Given the description of an element on the screen output the (x, y) to click on. 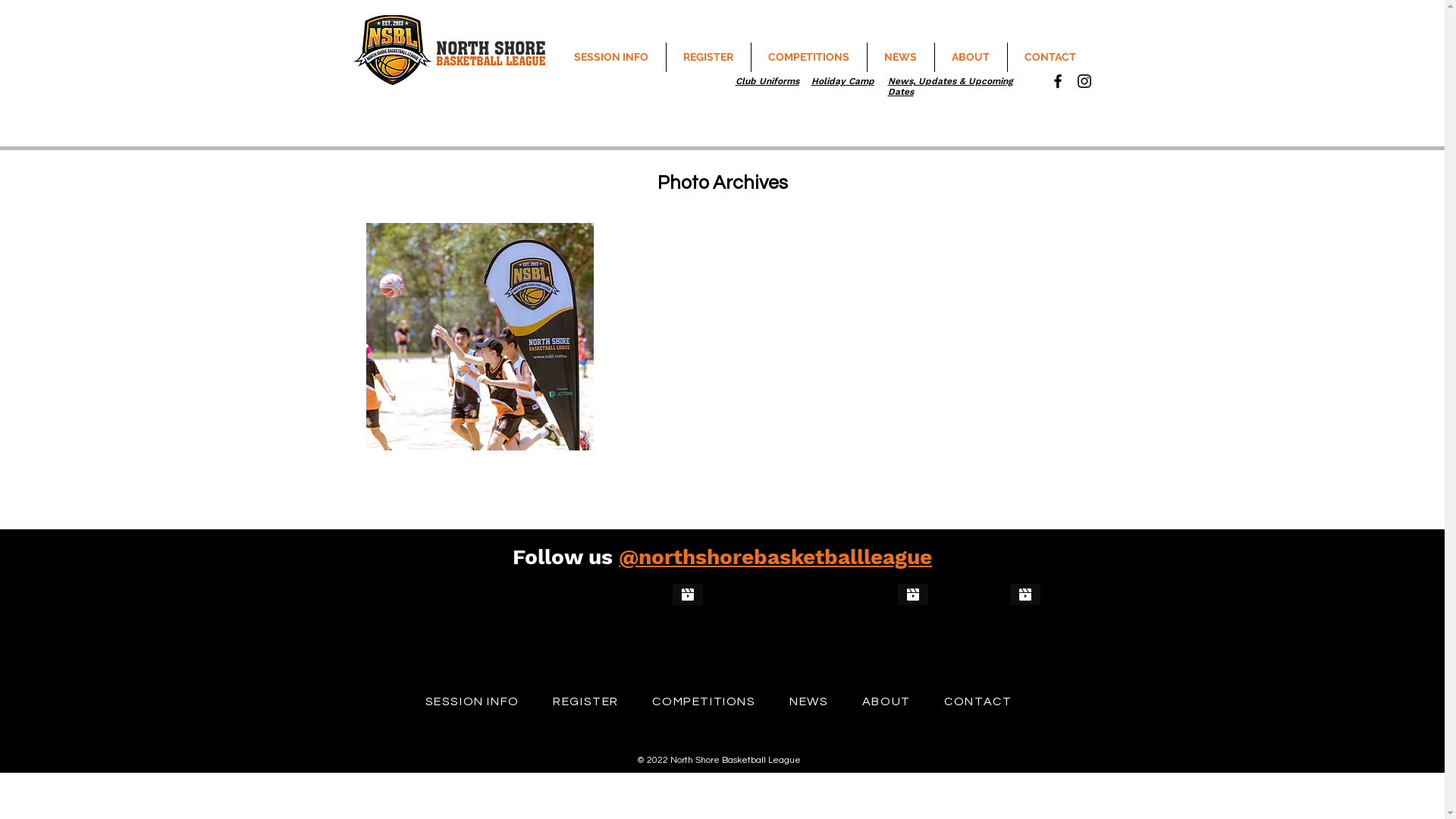
NEWS Element type: text (900, 57)
SESSION INFO Element type: text (472, 701)
CONTACT Element type: text (1049, 57)
CONTACT Element type: text (978, 701)
Instagram Feeds Element type: hover (714, 627)
Holiday Camp Element type: text (842, 80)
News, Updates & Upcoming Dates Element type: text (949, 86)
NEWS Element type: text (808, 701)
@northshorebasketballleague Element type: text (774, 556)
Club Uniforms Element type: text (767, 80)
SESSION INFO Element type: text (610, 57)
